Given the description of an element on the screen output the (x, y) to click on. 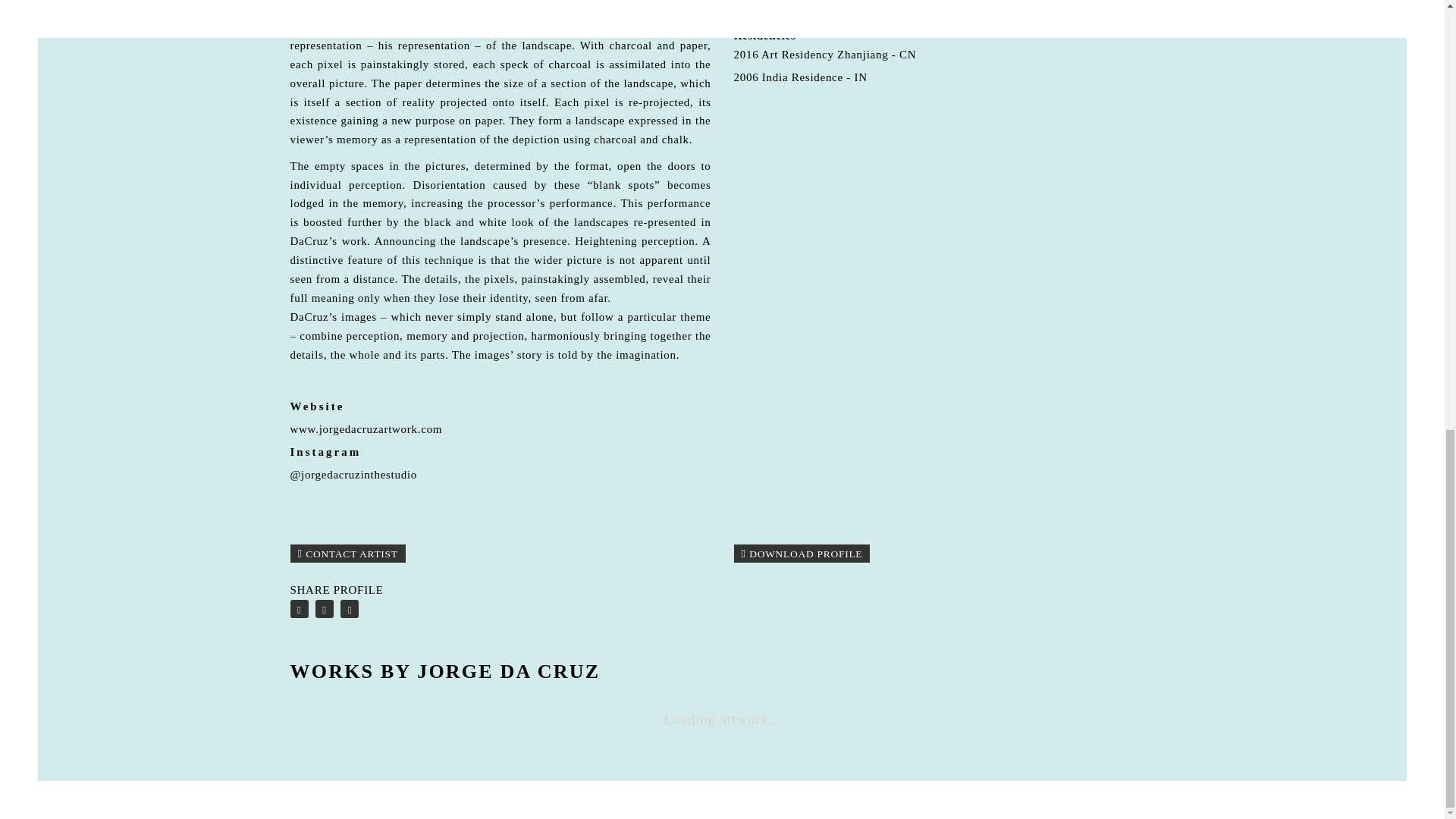
www.jorgedacruzartwork.com (365, 429)
CONTACT ARTIST (346, 553)
DOWNLOAD PROFILE (801, 553)
